Given the description of an element on the screen output the (x, y) to click on. 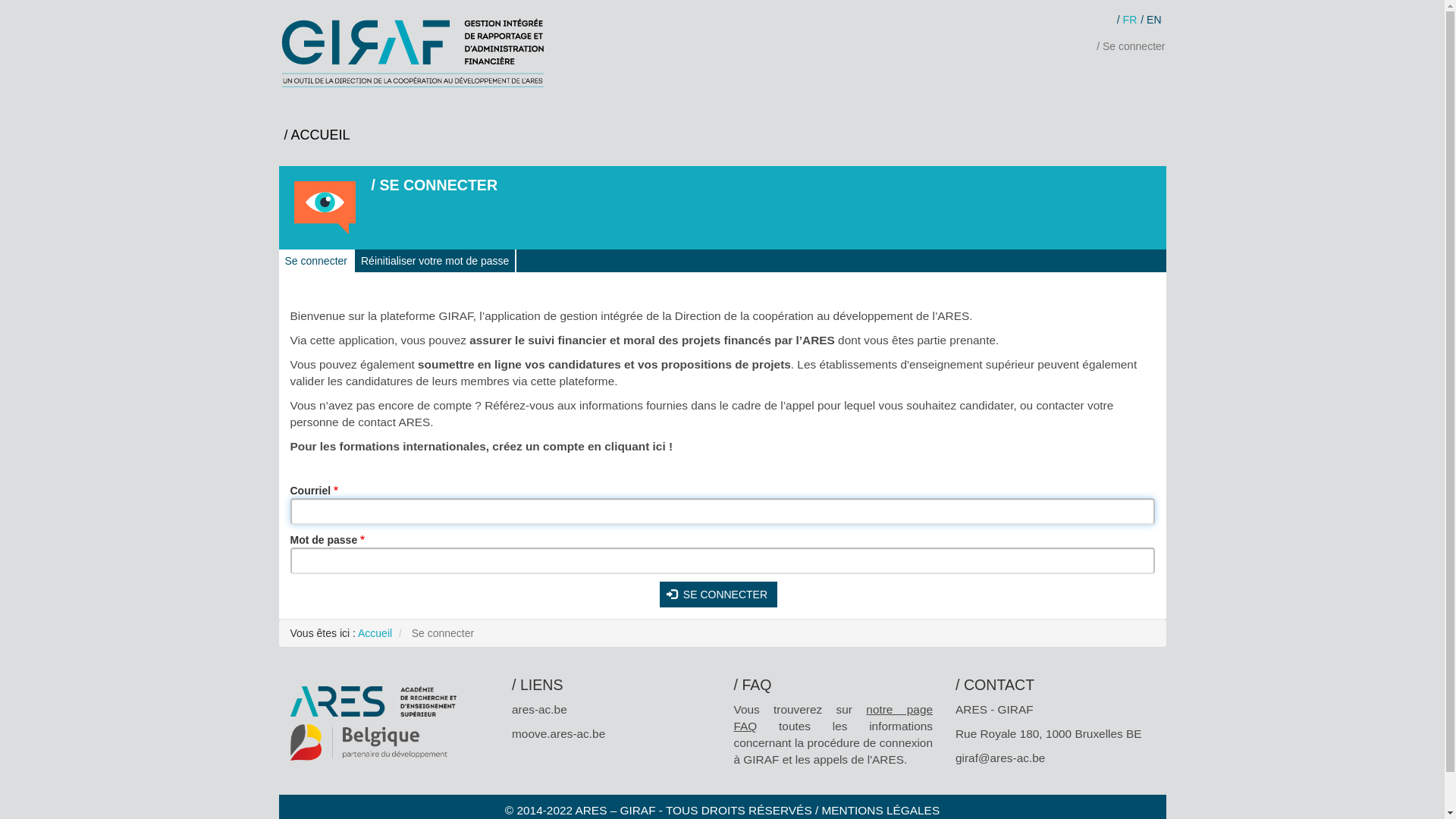
Accueil Element type: hover (417, 53)
Accueil Element type: text (374, 633)
moove.ares-ac.be Element type: text (558, 733)
ares-ac.be Element type: text (539, 708)
notre page FAQ Element type: text (833, 717)
ACCUEIL Element type: text (317, 134)
giraf@ares-ac.be Element type: text (999, 757)
Aller au contenu principal Element type: text (0, 11)
Se connecter
(onglet actif) Element type: text (317, 260)
FR Element type: text (1126, 19)
SE CONNECTER Element type: text (718, 594)
Se connecter Element type: text (1130, 46)
EN Element type: text (1150, 19)
